Given the description of an element on the screen output the (x, y) to click on. 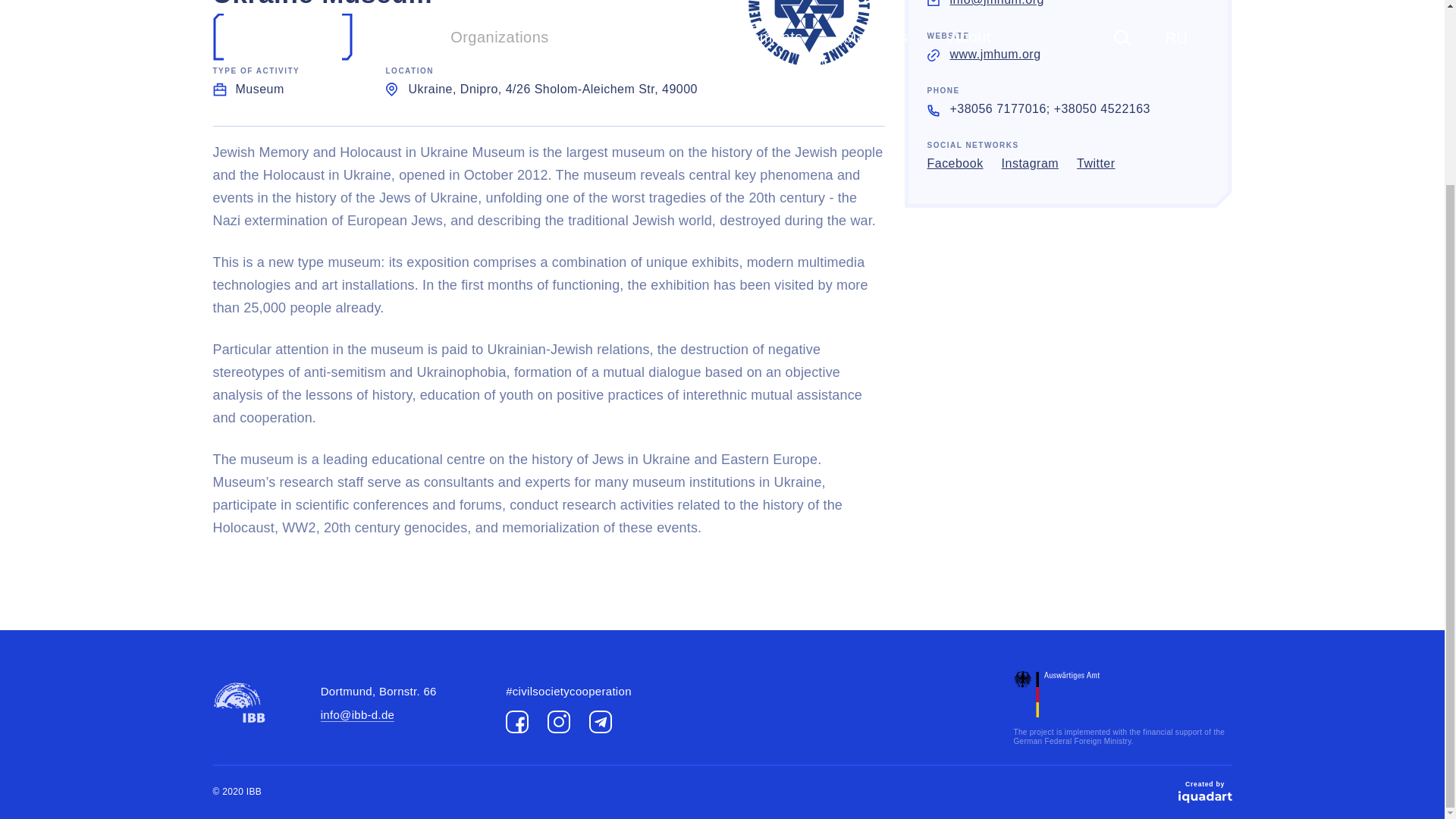
Twitter (1096, 163)
Instagram (1029, 163)
Instagram (1029, 163)
Facebook (516, 721)
Instagram (558, 721)
www.jmhum.org (995, 53)
Twitter (1096, 163)
Facebook (954, 163)
Facebook (954, 163)
Telegram (600, 721)
